Given the description of an element on the screen output the (x, y) to click on. 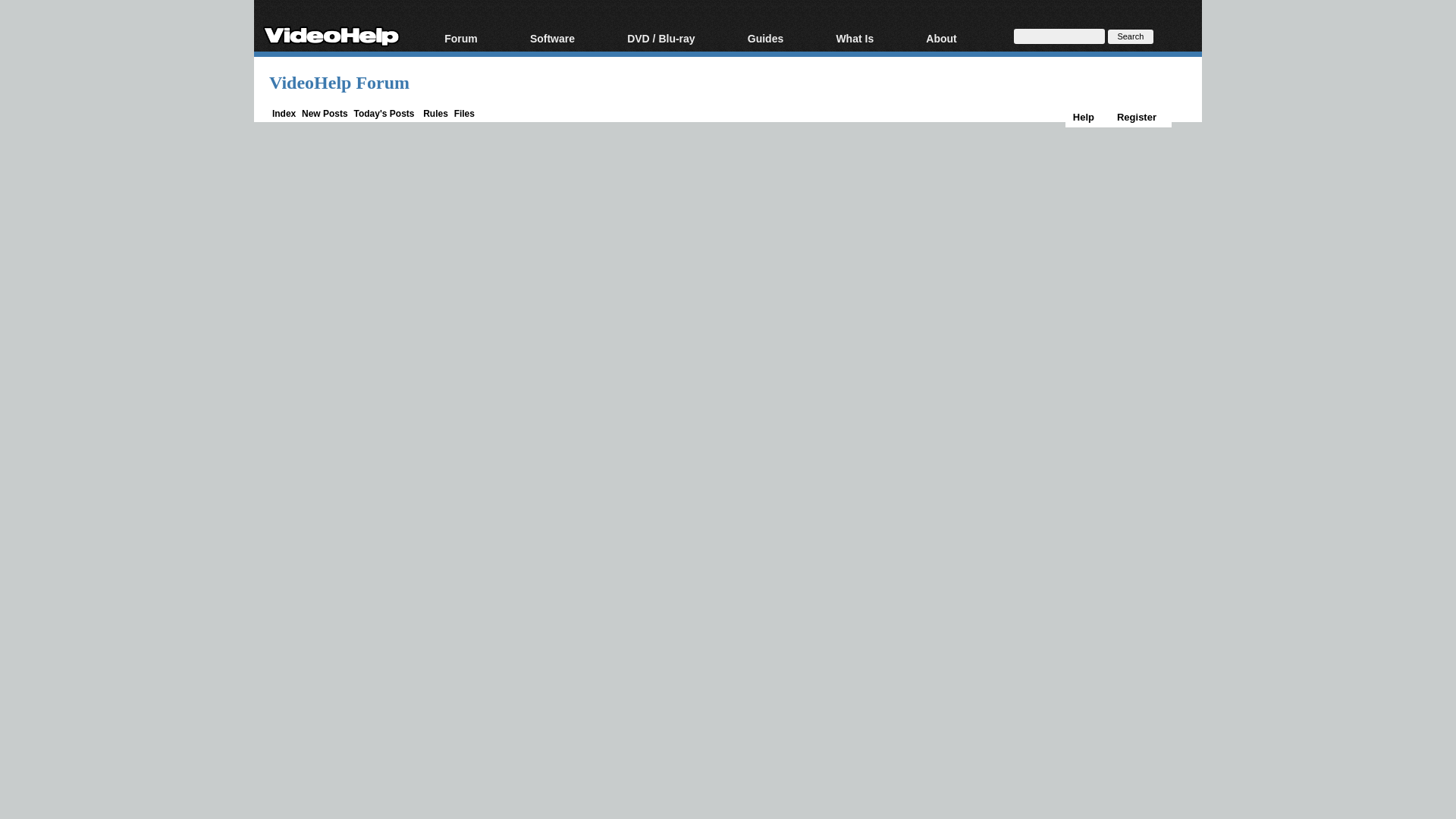
What Is (872, 40)
New Posts (324, 113)
Forum (478, 40)
Search (1130, 35)
Rules (435, 113)
Software (570, 40)
Guides (783, 40)
VideoHelp (330, 33)
Search (1130, 35)
VideoHelp Forum (339, 82)
About (959, 40)
Today's Posts (383, 113)
Index (283, 113)
Files (464, 113)
